Given the description of an element on the screen output the (x, y) to click on. 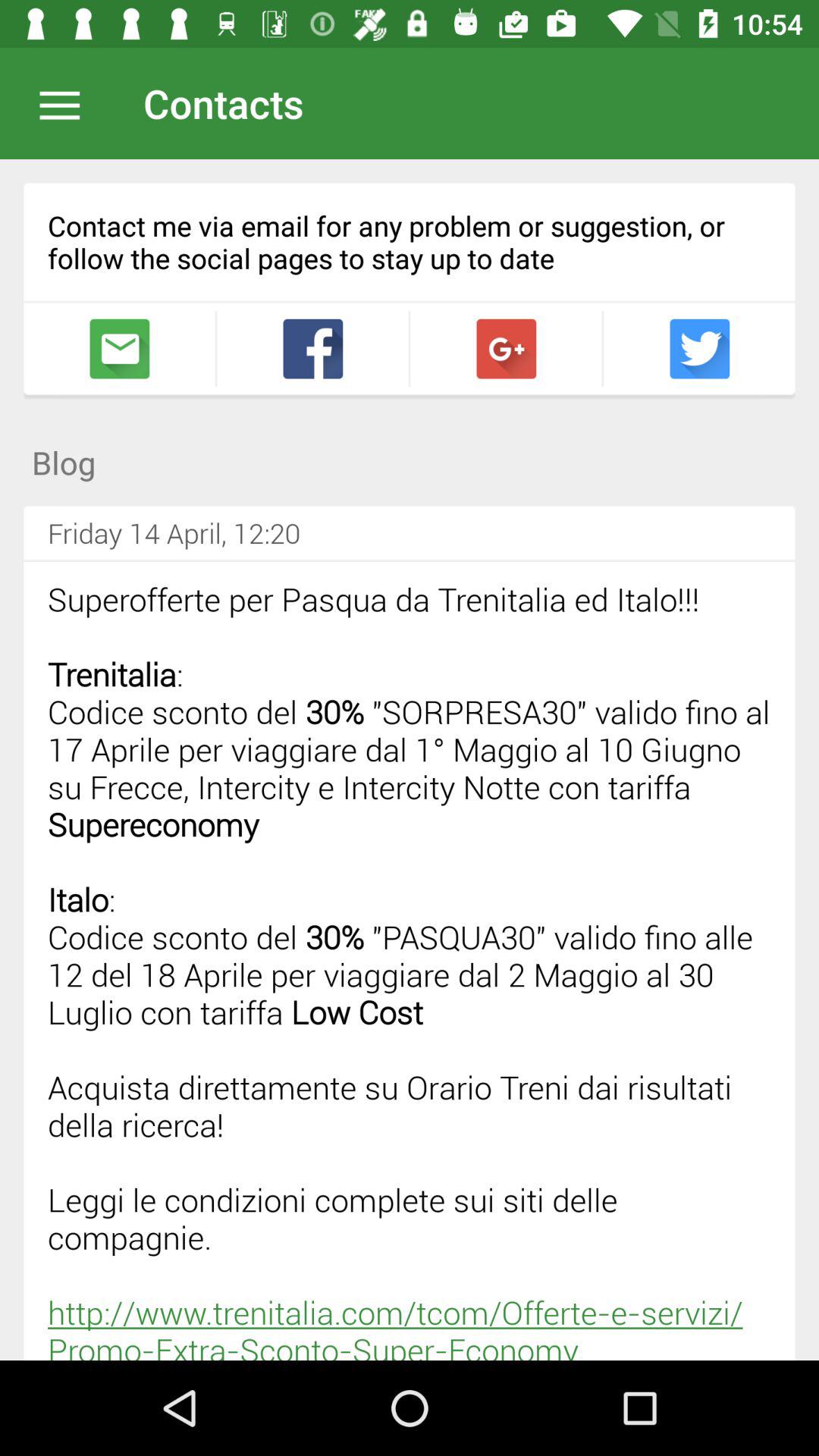
share to social media (312, 348)
